Given the description of an element on the screen output the (x, y) to click on. 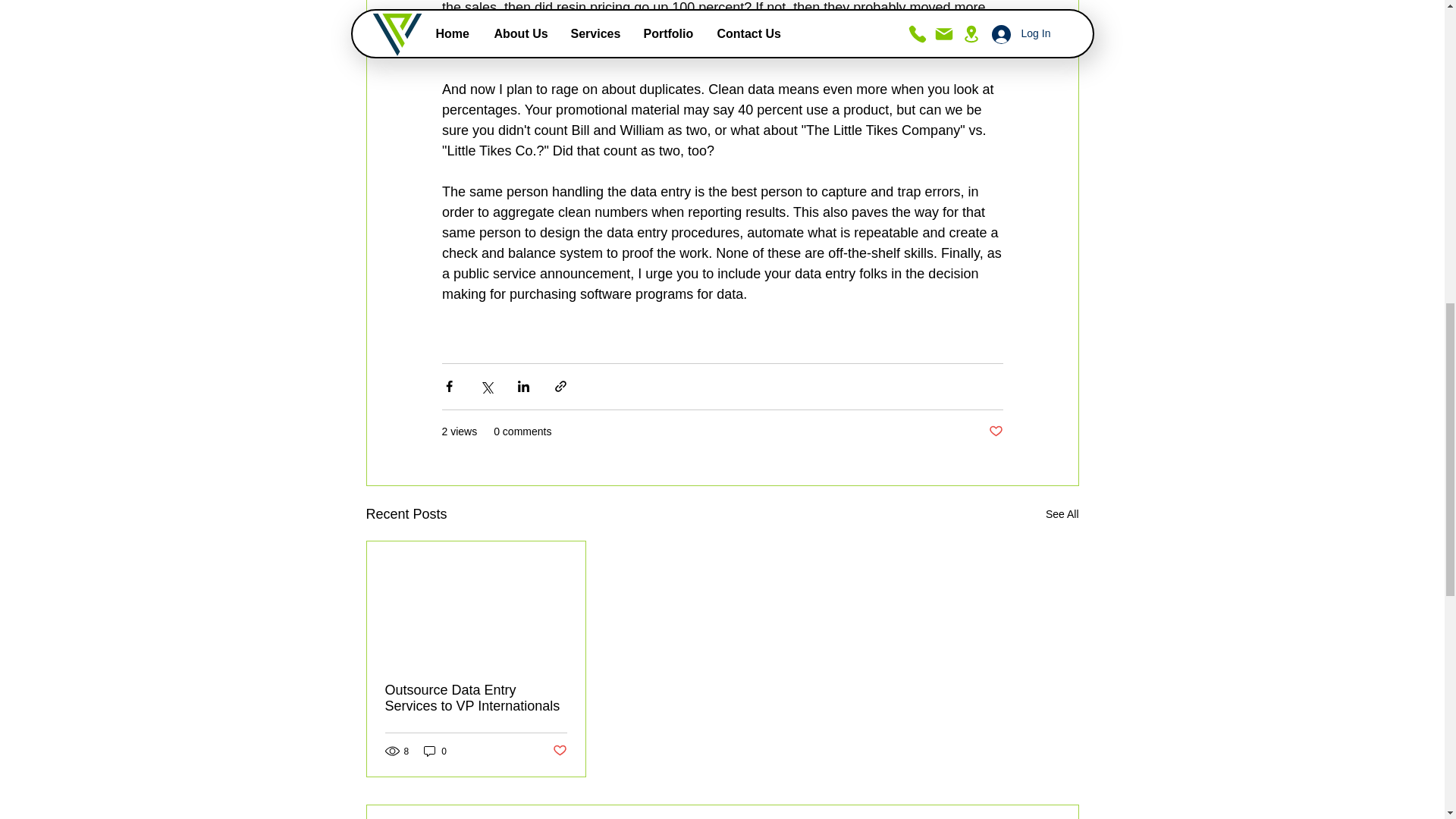
0 (435, 750)
Post not marked as liked (558, 750)
Outsource Data Entry Services to VP Internationals (476, 698)
See All (1061, 514)
Post not marked as liked (995, 431)
